Given the description of an element on the screen output the (x, y) to click on. 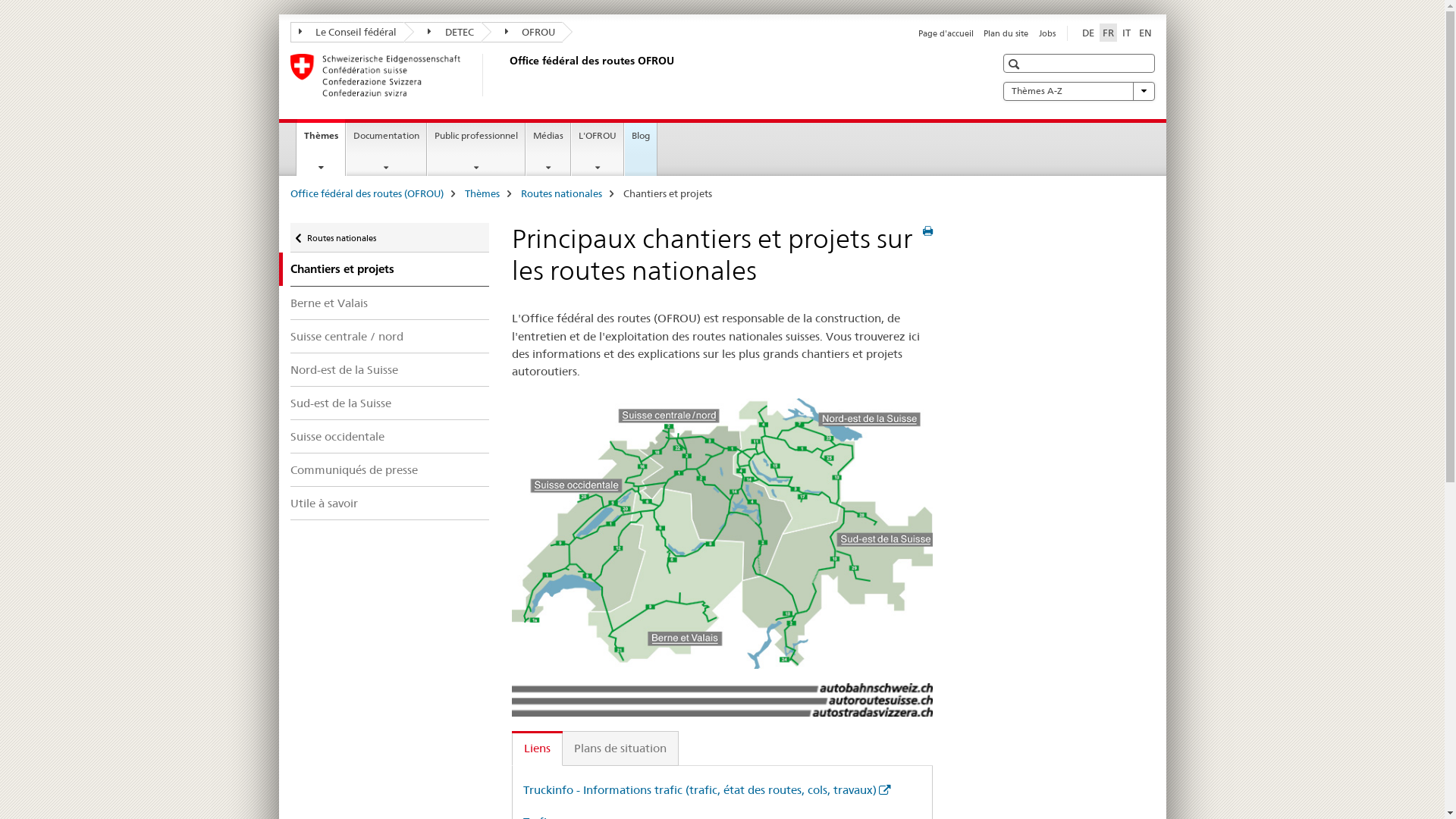
Suisse occidentale Element type: text (389, 436)
L'OFROU Element type: text (597, 148)
Public professionnel Element type: text (475, 148)
Plans de situation Element type: text (620, 748)
DETEC Element type: text (442, 31)
Jobs Element type: text (1046, 33)
Imprimer cette page Element type: hover (927, 230)
FR Element type: text (1108, 32)
IT Element type: text (1126, 32)
Plan du site Element type: text (1005, 33)
OFROU Element type: text (521, 31)
Routes nationales Element type: text (560, 193)
Blog Element type: text (640, 148)
EN Element type: text (1144, 32)
Sud-est de la Suisse Element type: text (389, 402)
DE Element type: text (1087, 32)
Page d'accueil Element type: text (945, 33)
Suisse centrale / nord Element type: text (389, 336)
Berne et Valais Element type: text (389, 302)
Liens Element type: text (536, 748)
Documentation Element type: text (386, 148)
Nord-est de la Suisse Element type: text (389, 369)
